Given the description of an element on the screen output the (x, y) to click on. 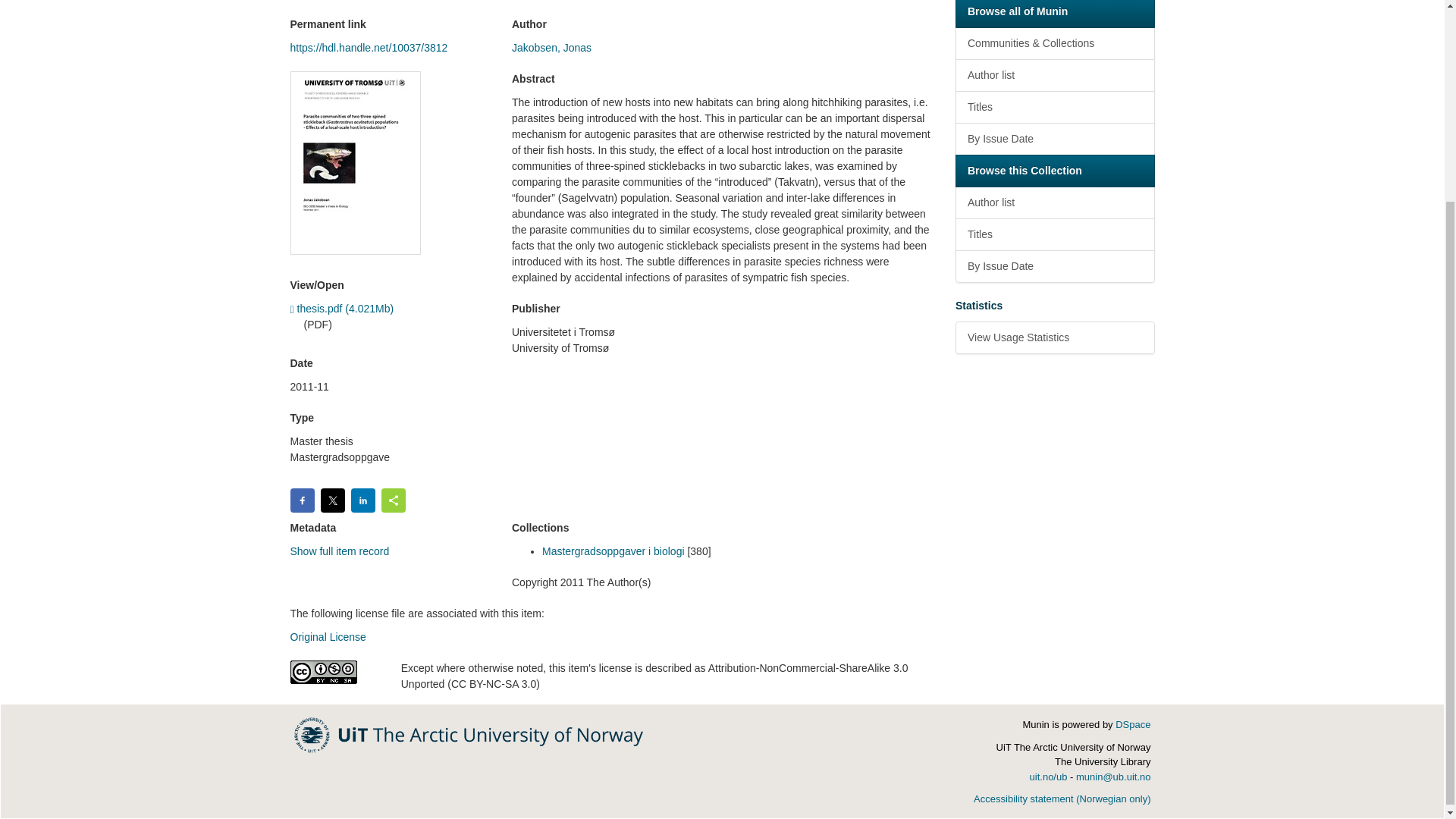
By Issue Date (1054, 138)
Browse this Collection (1054, 170)
Jakobsen, Jonas (551, 47)
Titles (1054, 106)
Browse all of Munin (1054, 13)
Original License (327, 636)
Author list (1054, 74)
Show full item record (338, 551)
UiT (468, 734)
Author list (1054, 202)
Mastergradsoppgaver i biologi (612, 551)
Titles (1054, 234)
By Issue Date (1054, 266)
